Given the description of an element on the screen output the (x, y) to click on. 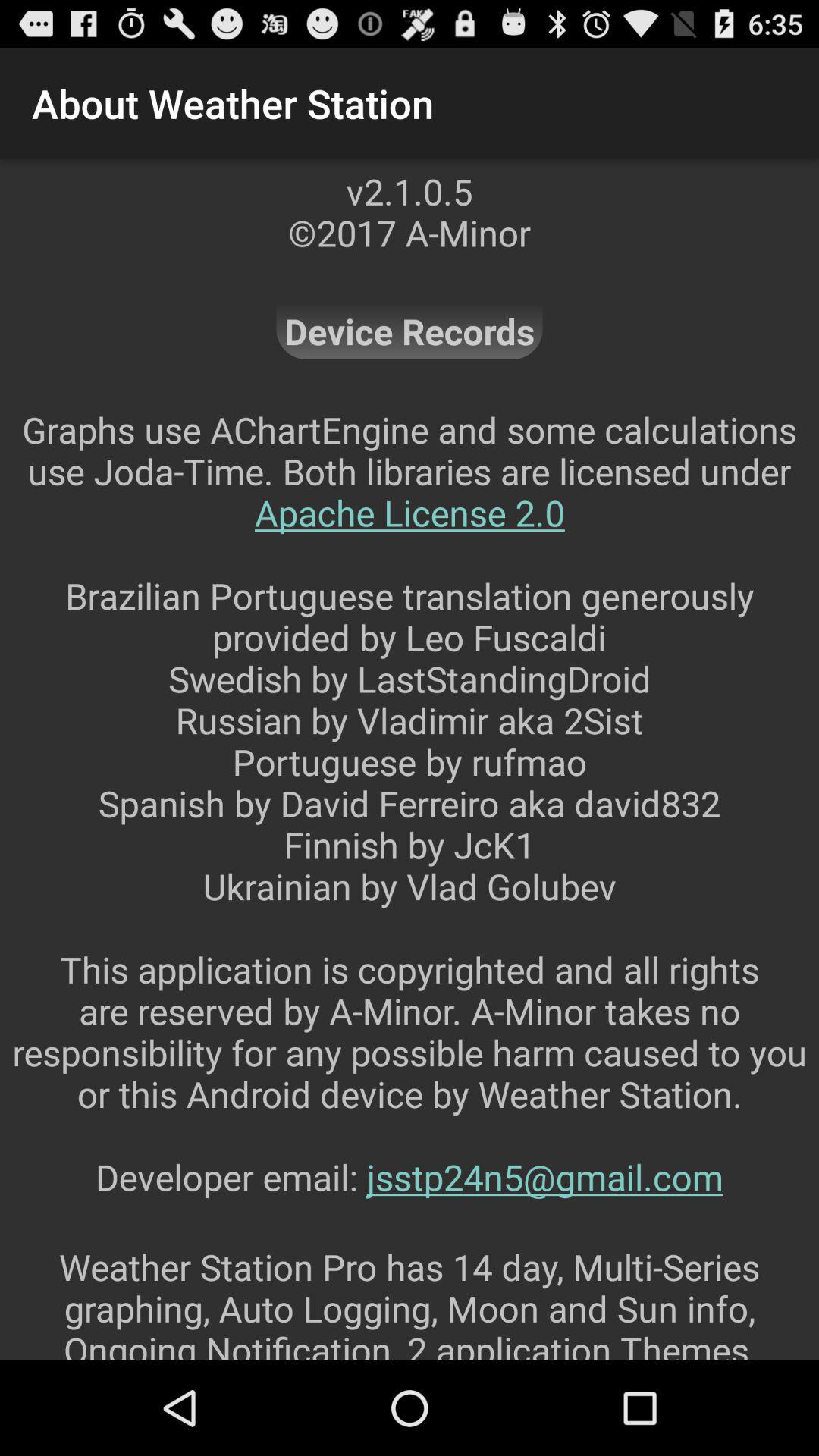
jump to the device records item (409, 331)
